Given the description of an element on the screen output the (x, y) to click on. 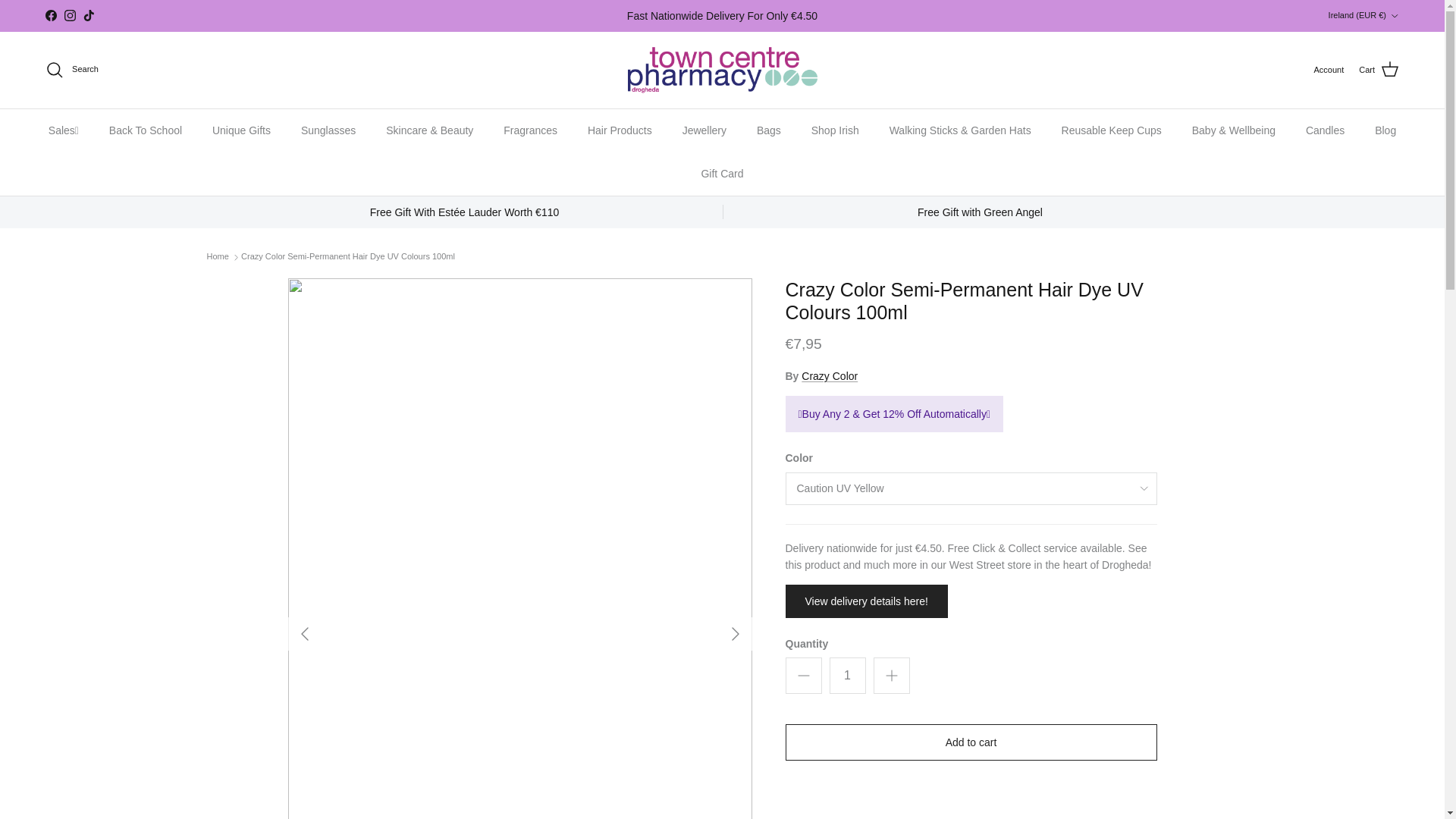
Bags (768, 130)
Town Centre Pharmacy  (721, 69)
Town Centre Pharmacy  on TikTok (88, 15)
1 (847, 675)
Shop Irish (834, 130)
Fragrances (529, 130)
TikTok (88, 15)
Unique Gifts (240, 130)
Jewellery (703, 130)
Search (72, 69)
